Given the description of an element on the screen output the (x, y) to click on. 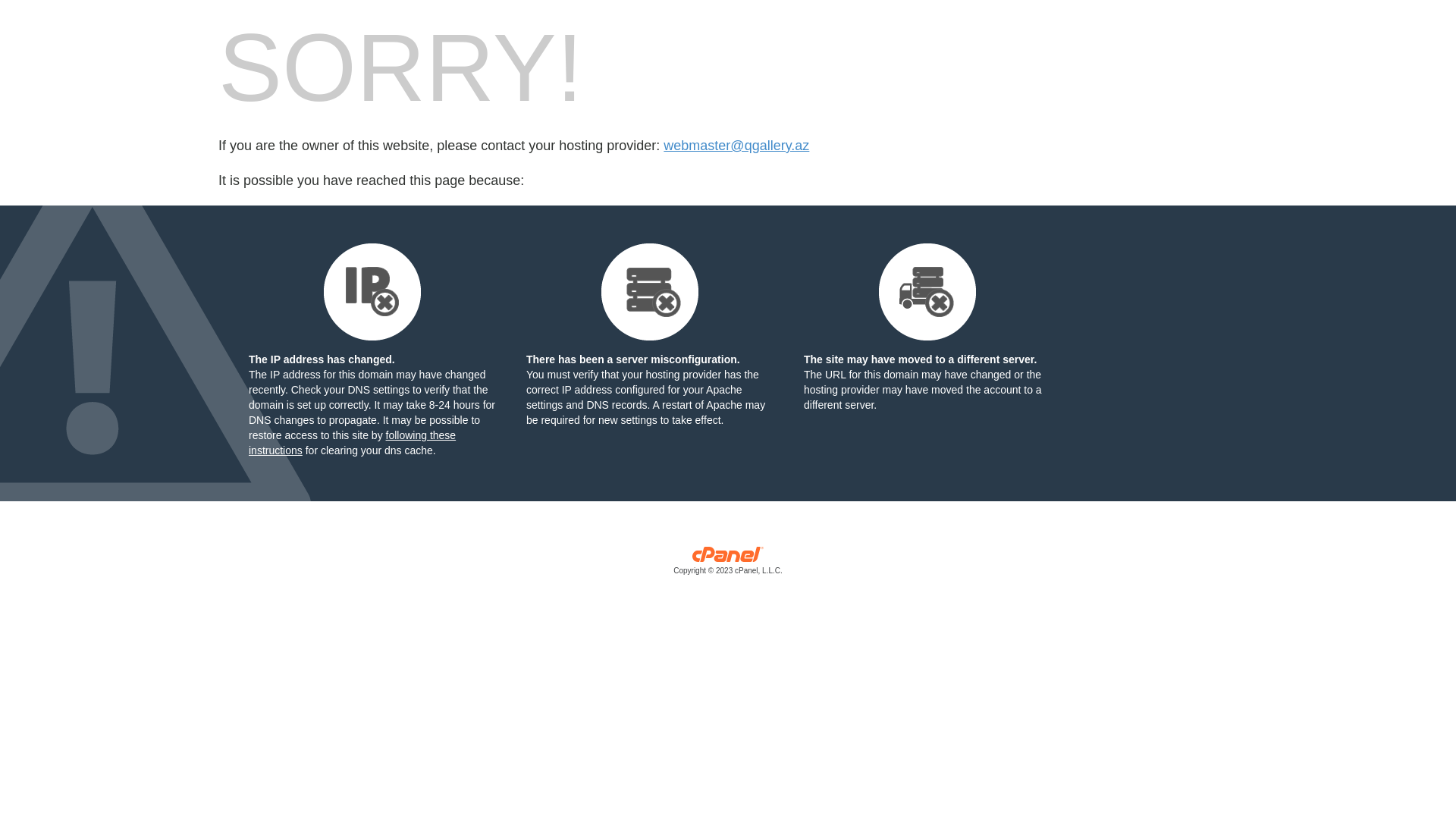
following these instructions Element type: text (351, 442)
webmaster@qgallery.az Element type: text (736, 145)
